Given the description of an element on the screen output the (x, y) to click on. 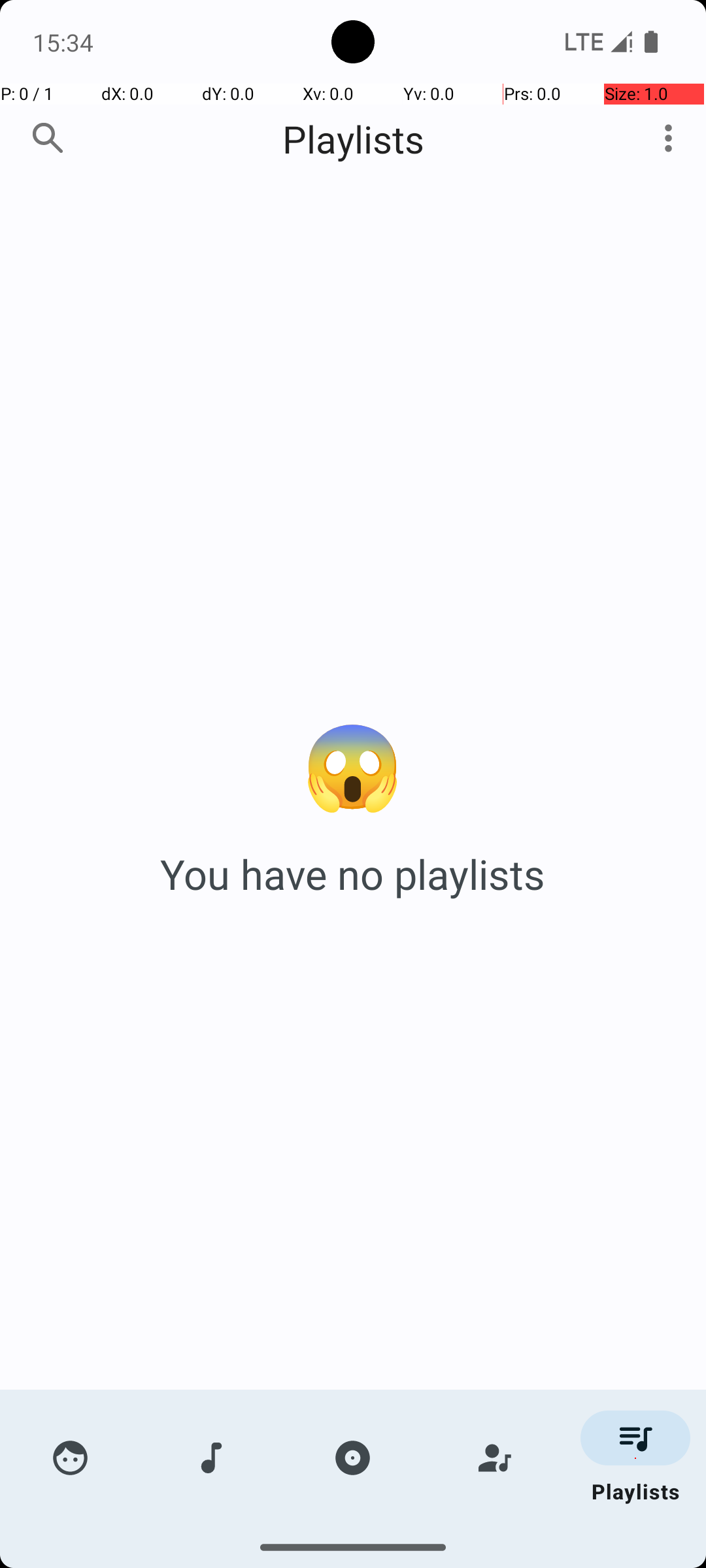
Playlists Element type: android.widget.TextView (353, 138)
😱 Element type: android.widget.TextView (352, 763)
You have no playlists Element type: android.widget.TextView (352, 873)
For you Element type: android.widget.FrameLayout (70, 1457)
Songs Element type: android.widget.FrameLayout (211, 1457)
Albums Element type: android.widget.FrameLayout (352, 1457)
Artists Element type: android.widget.FrameLayout (493, 1457)
